Given the description of an element on the screen output the (x, y) to click on. 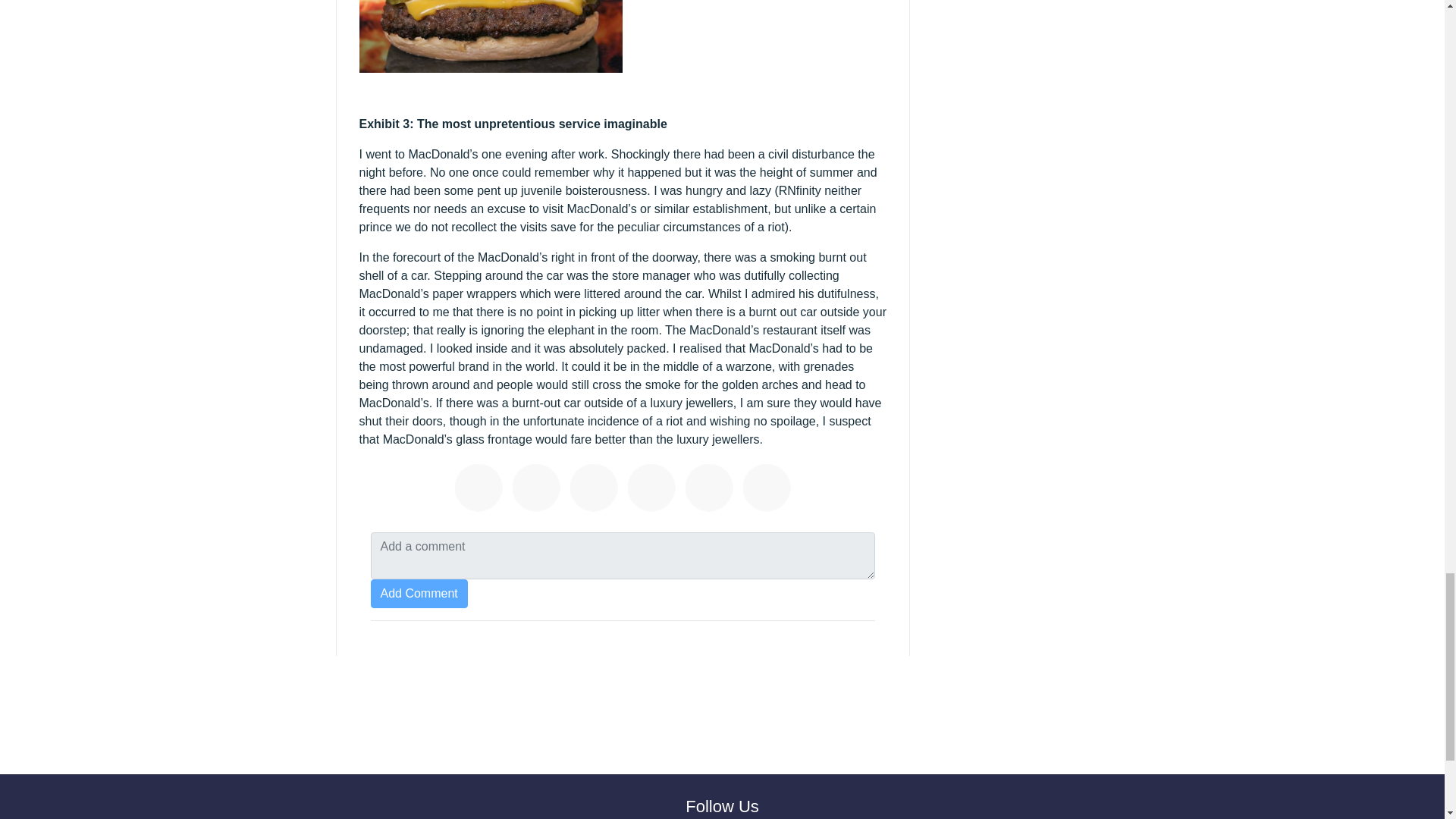
Pretentious Service (711, 489)
Add Comment (418, 593)
Pretentious Service (769, 489)
Pretentious Service (654, 489)
Pretentious Service (539, 489)
Pretentious Service (481, 489)
Pretentious Service (596, 489)
